Given the description of an element on the screen output the (x, y) to click on. 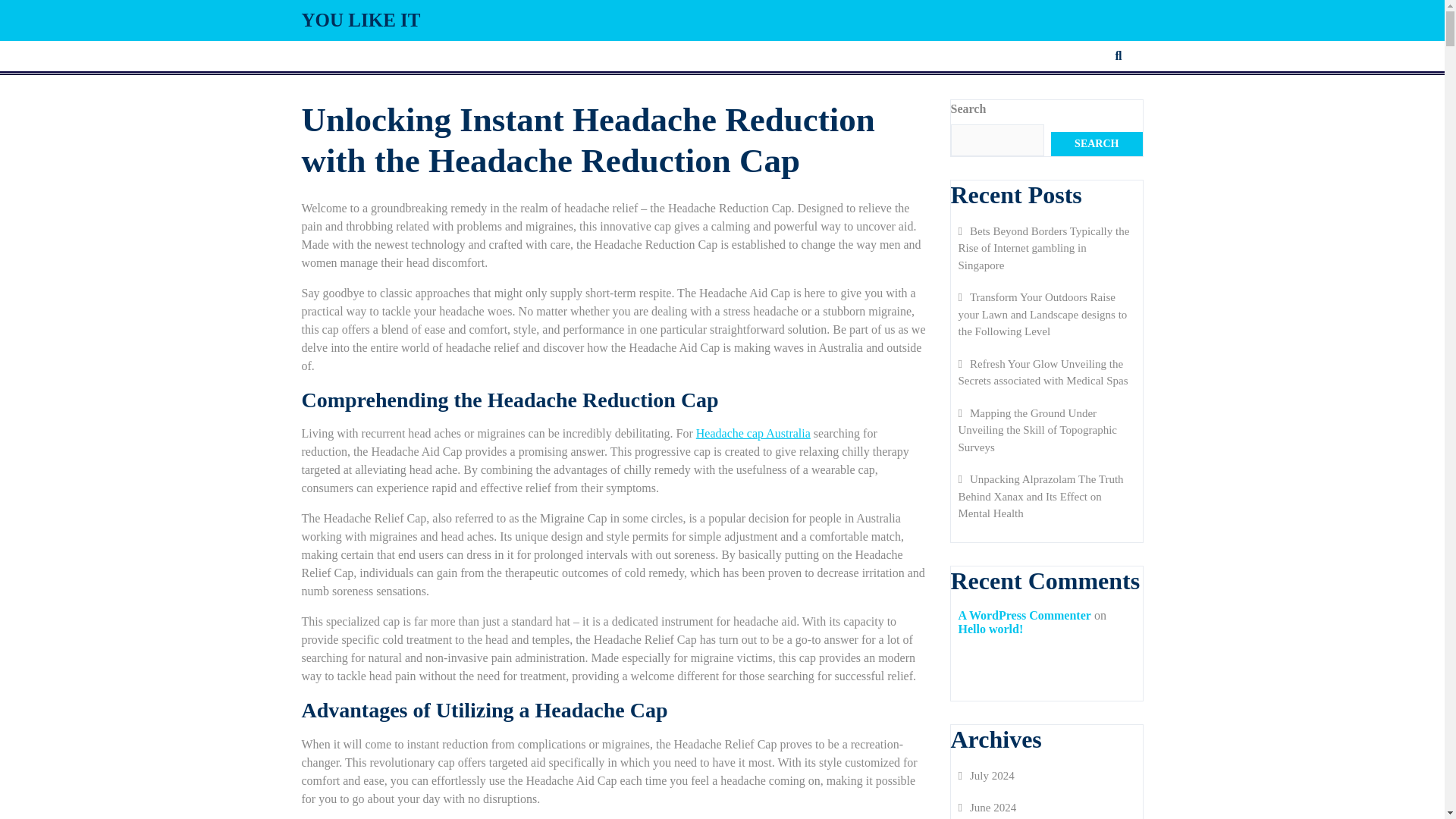
July 2024 (986, 775)
June 2024 (987, 807)
SEARCH (1096, 143)
Headache cap Australia (752, 432)
YOU LIKE IT (360, 19)
A WordPress Commenter (1024, 615)
Hello world! (990, 628)
